Given the description of an element on the screen output the (x, y) to click on. 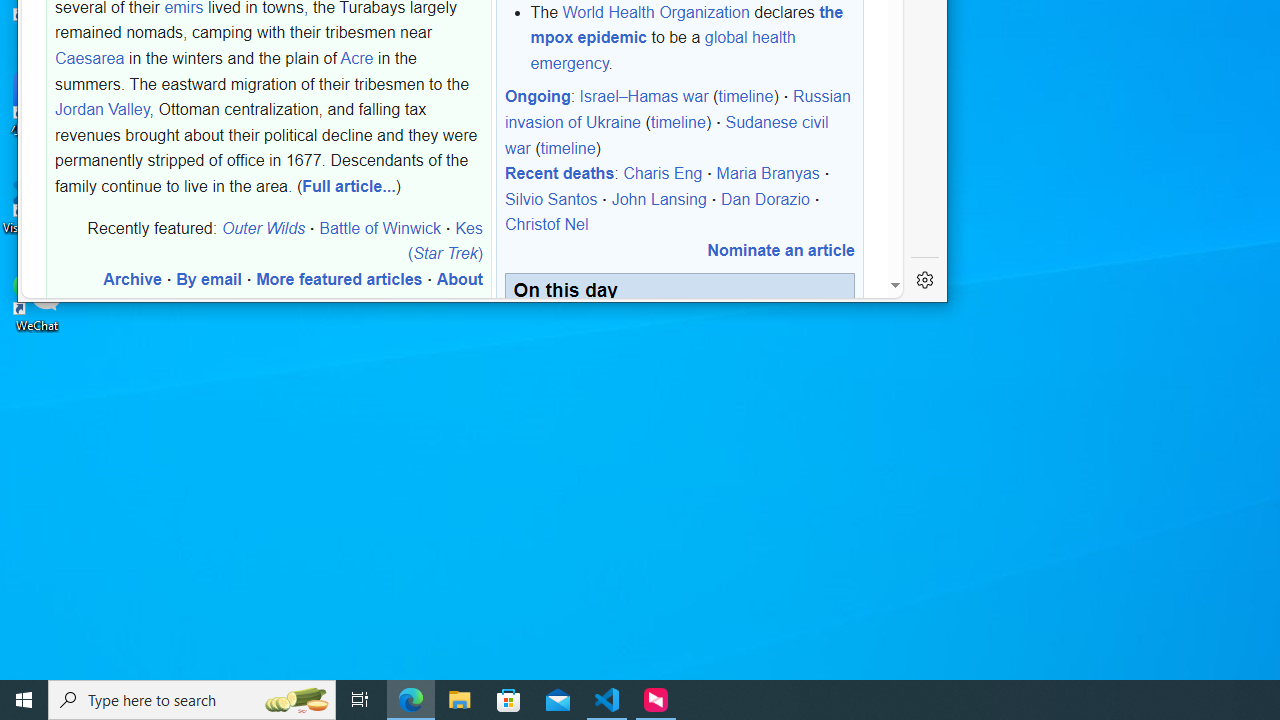
Start (24, 699)
Microsoft Store (509, 699)
Type here to search (191, 699)
Microsoft Edge - 1 running window (411, 699)
File Explorer (460, 699)
Visual Studio Code - 1 running window (607, 699)
Task View (359, 699)
Search highlights icon opens search home window (295, 699)
